Given the description of an element on the screen output the (x, y) to click on. 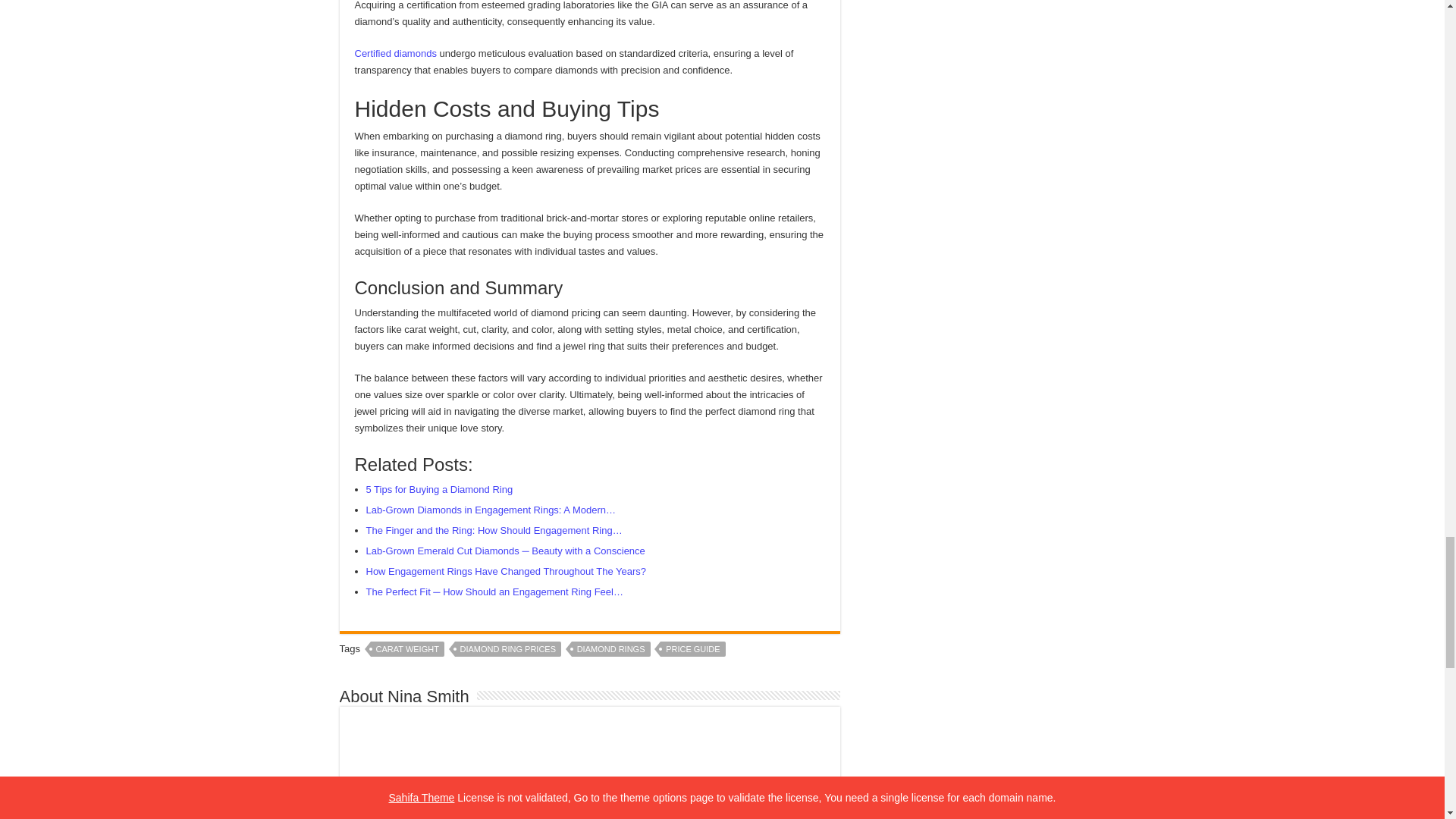
DIAMOND RING PRICES (508, 648)
PRICE GUIDE (693, 648)
CARAT WEIGHT (407, 648)
DIAMOND RINGS (611, 648)
5 Tips for Buying a Diamond Ring (438, 489)
Certified diamonds (395, 52)
How Engagement Rings Have Changed Throughout The Years? (505, 571)
